Given the description of an element on the screen output the (x, y) to click on. 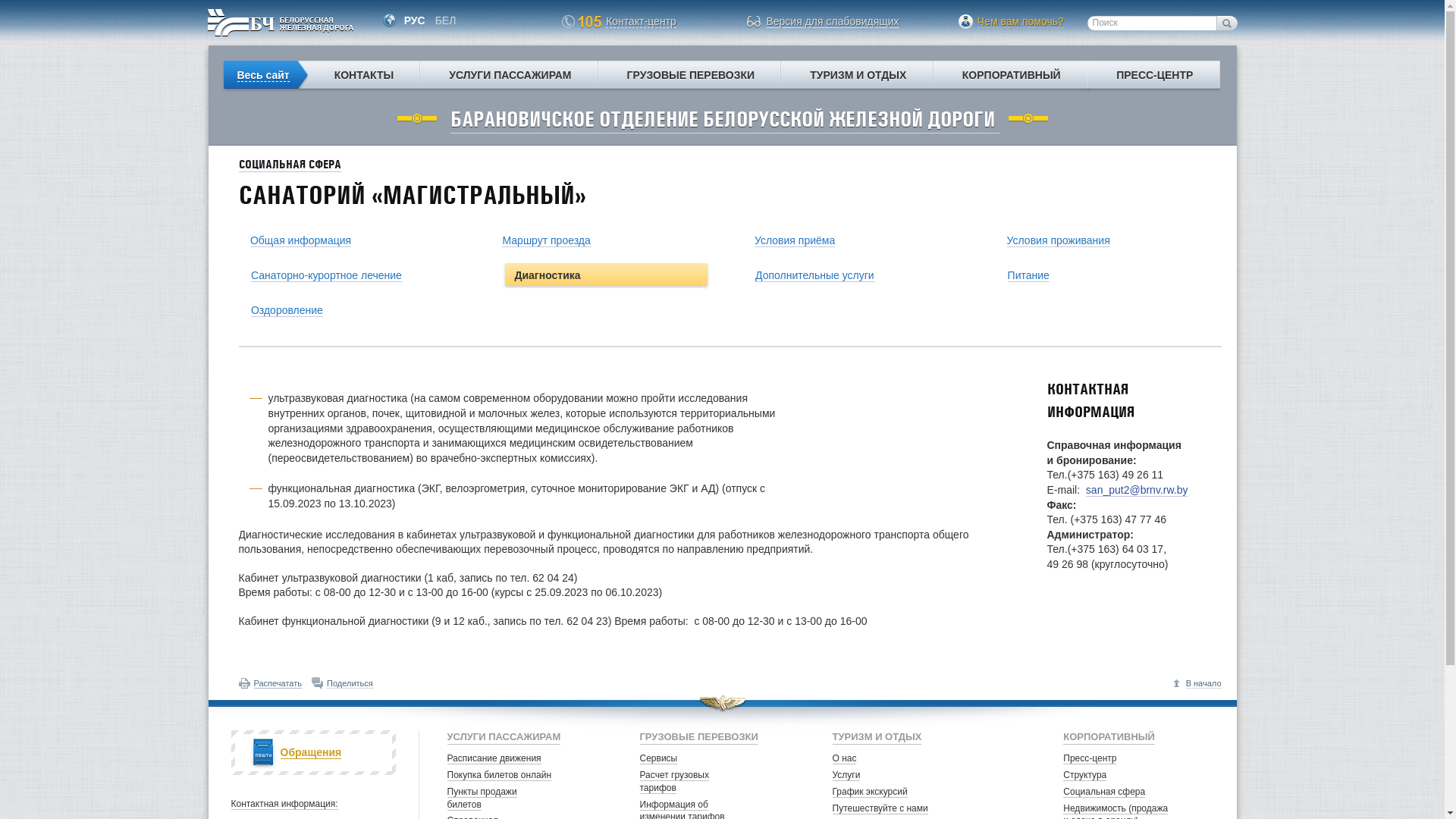
san_put2@brnv.rw.by Element type: text (1136, 489)
